Given the description of an element on the screen output the (x, y) to click on. 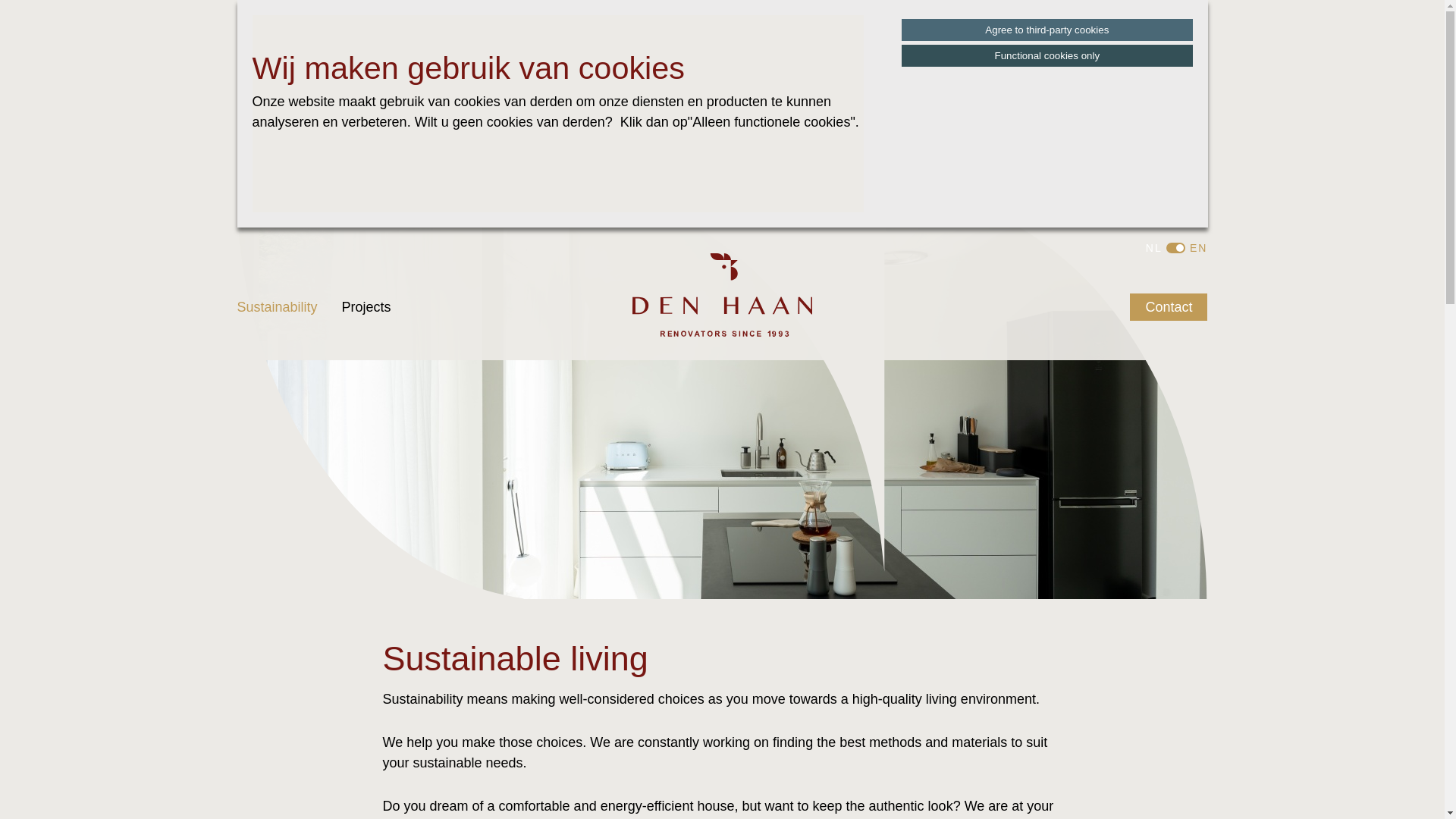
Agree to third-party cookies (1046, 29)
Sustainability (276, 306)
Contact (1168, 307)
Projects (366, 306)
Functional cookies only (1046, 55)
